Given the description of an element on the screen output the (x, y) to click on. 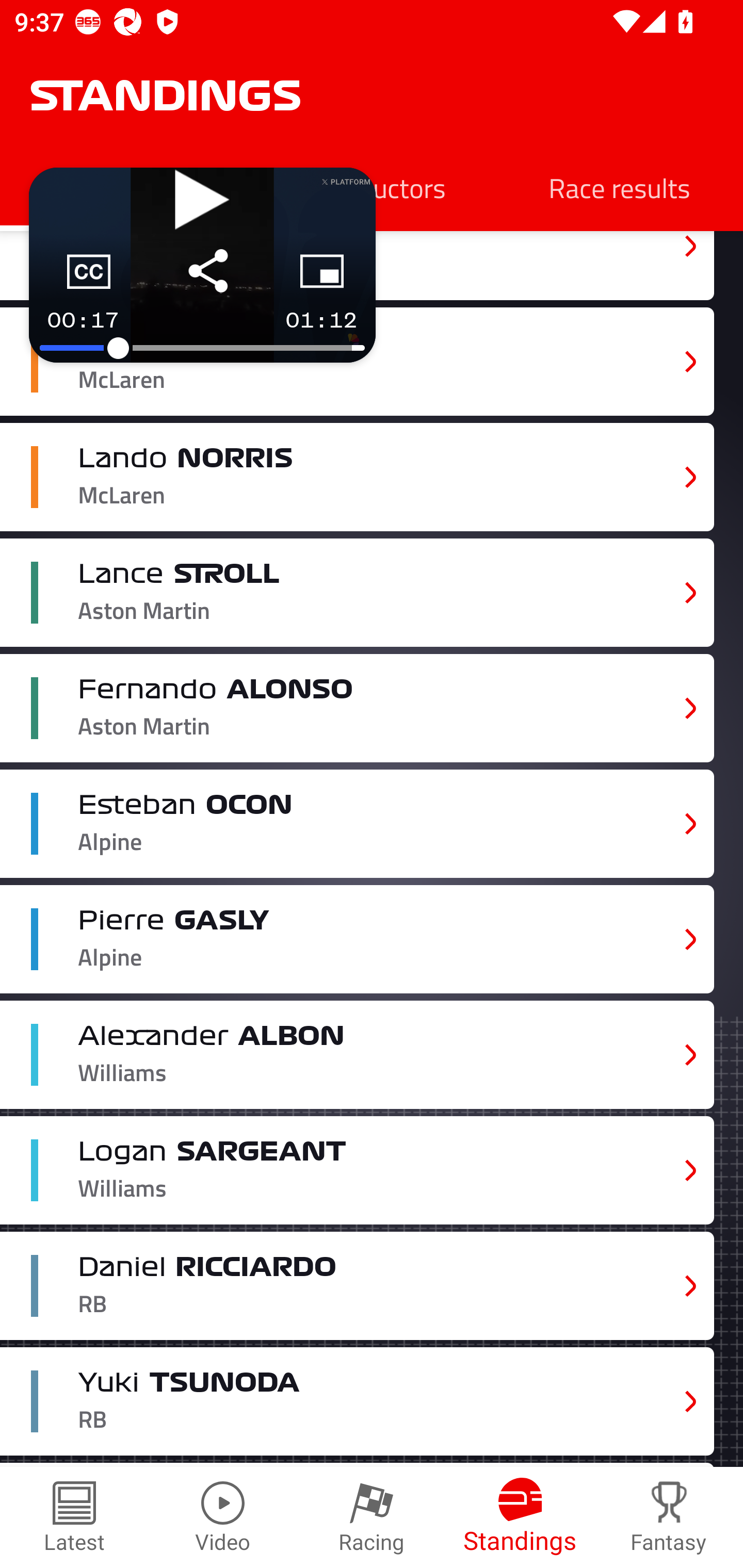
Race results (619, 187)
Lando NORRIS McLaren (357, 477)
Lance STROLL Aston Martin (357, 591)
Fernando ALONSO Aston Martin (357, 707)
Esteban OCON Alpine (357, 823)
Pierre GASLY Alpine (357, 939)
Alexander ALBON Williams (357, 1054)
Logan SARGEANT Williams (357, 1170)
Daniel RICCIARDO RB (357, 1286)
Yuki TSUNODA RB (357, 1400)
Latest (74, 1517)
Video (222, 1517)
Racing (371, 1517)
Fantasy (668, 1517)
